Given the description of an element on the screen output the (x, y) to click on. 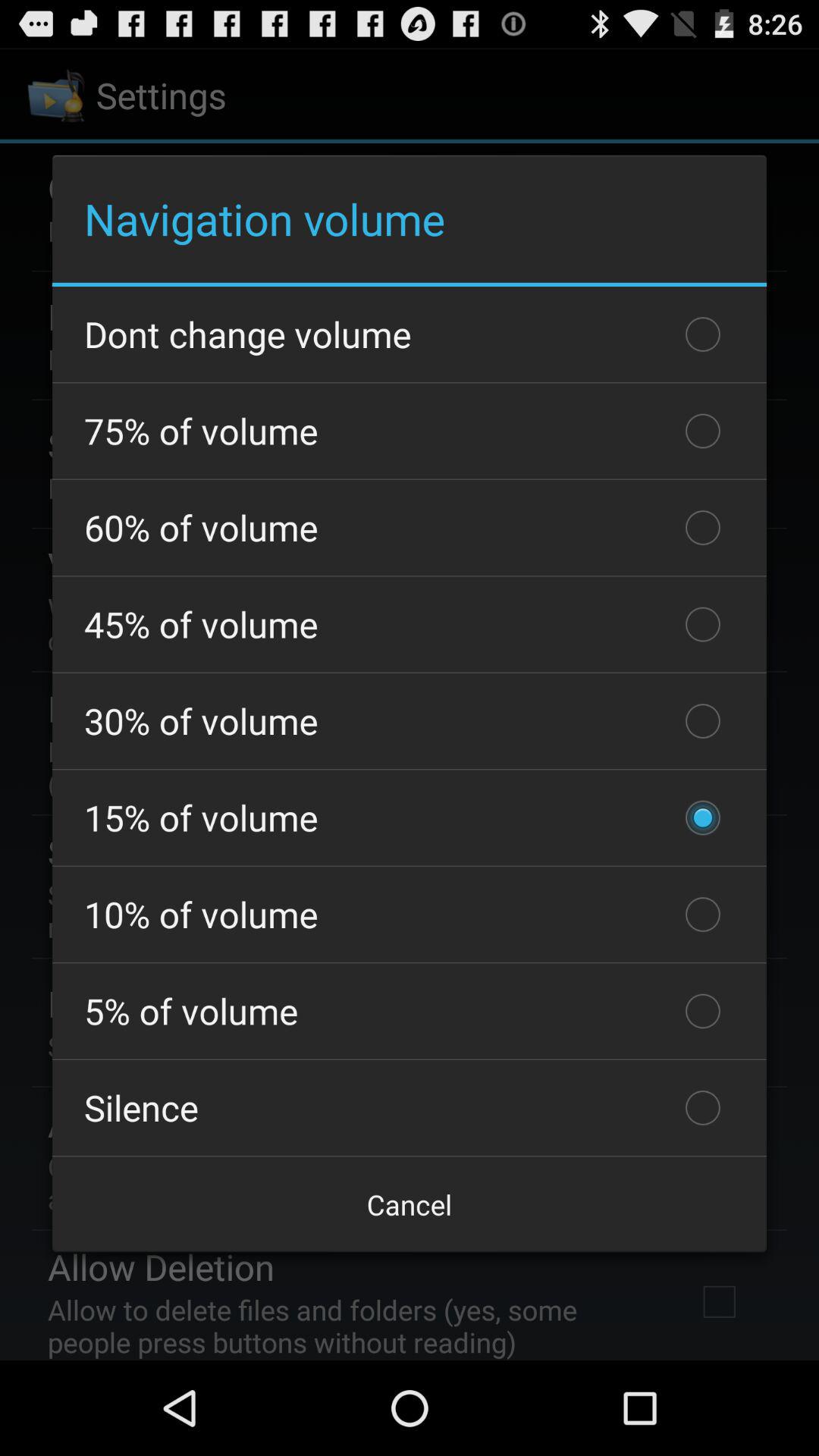
choose the cancel item (409, 1204)
